Given the description of an element on the screen output the (x, y) to click on. 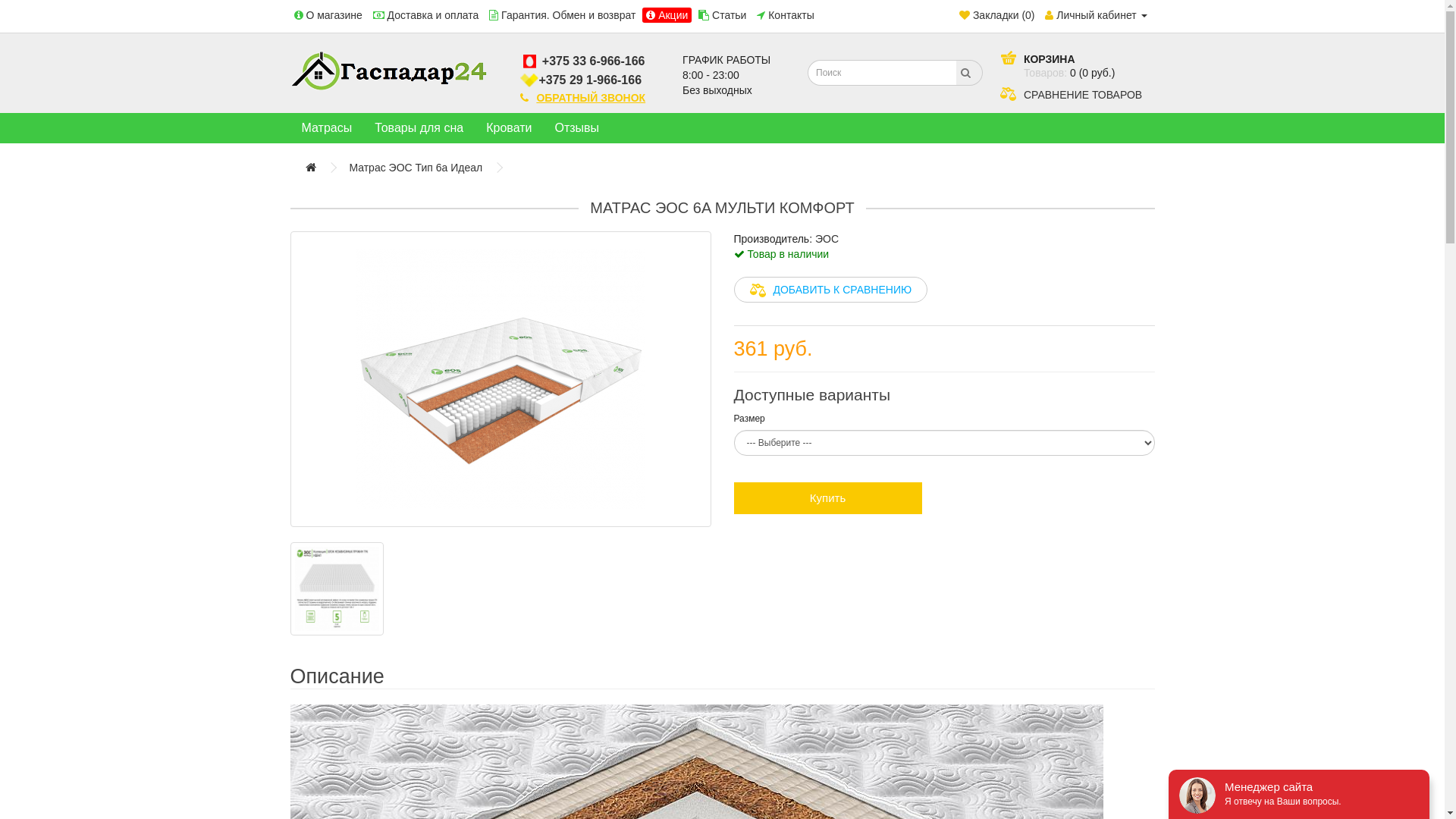
Gaspadar24.by Element type: hover (387, 70)
+375 33 6-966-166 Element type: text (591, 60)
+375 29 1-966-166 Element type: text (589, 79)
